Given the description of an element on the screen output the (x, y) to click on. 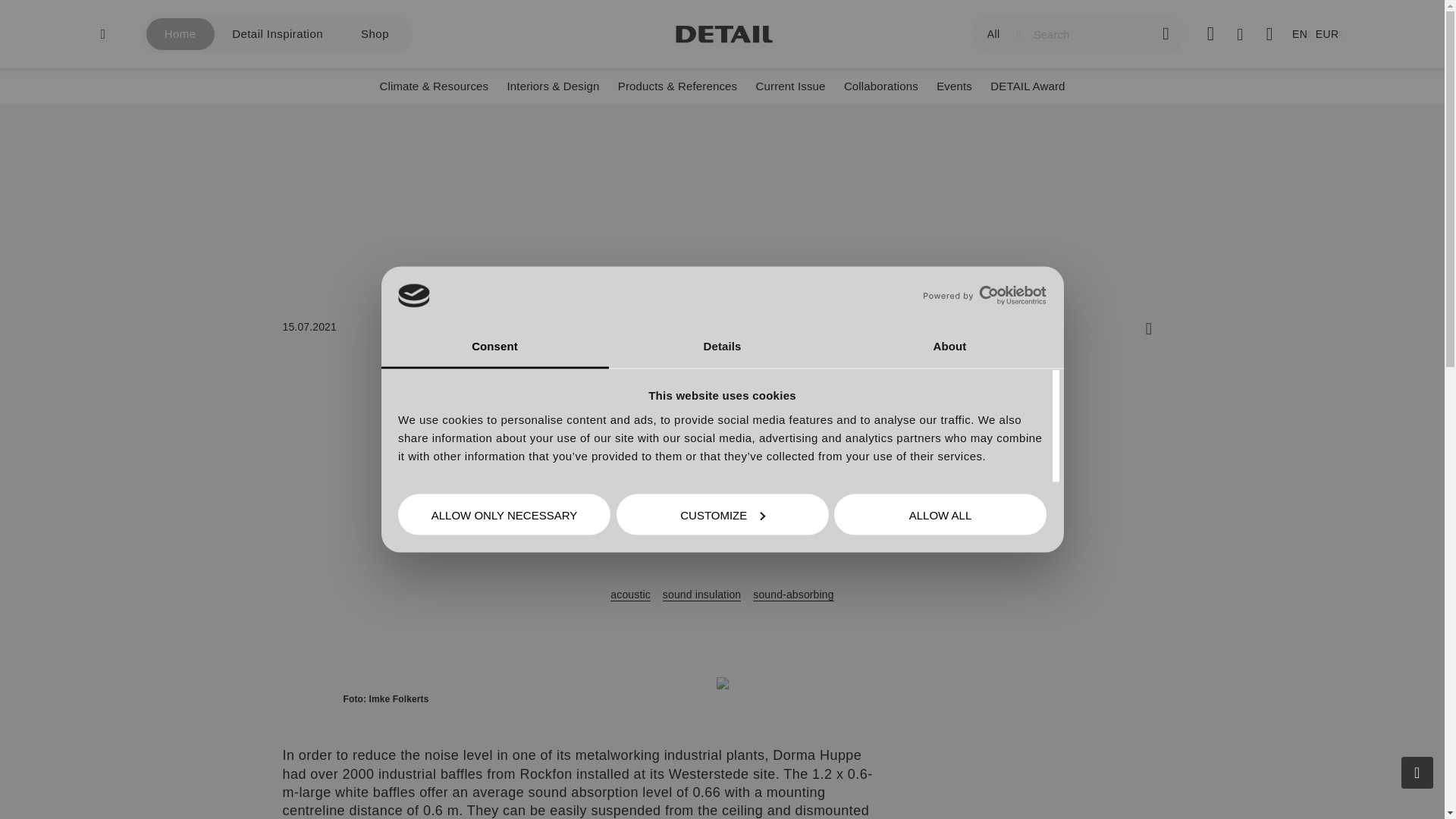
Scrollup (1416, 772)
About (948, 346)
Consent (494, 346)
Details (721, 346)
